Given the description of an element on the screen output the (x, y) to click on. 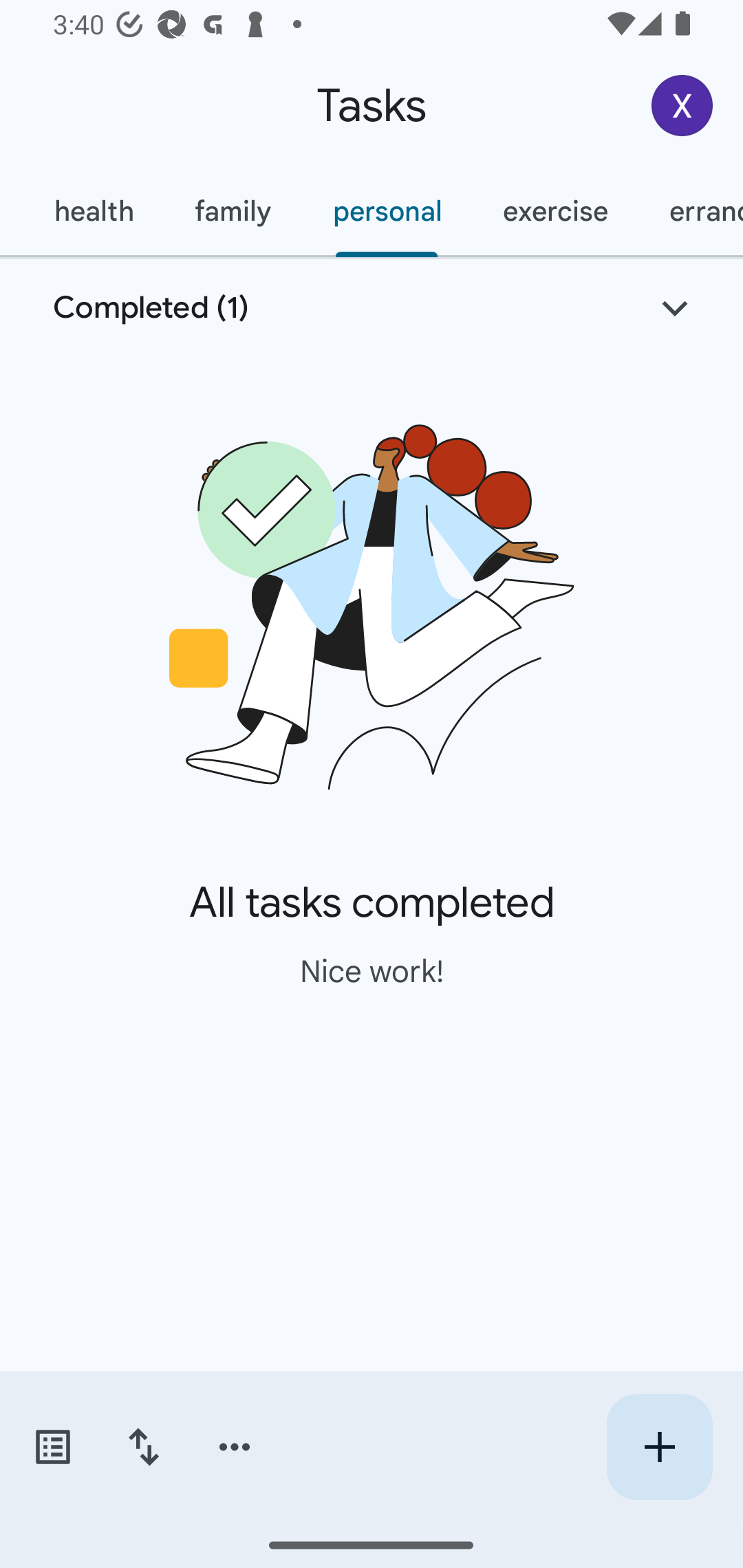
health (93, 211)
family (232, 211)
exercise (554, 211)
errands (690, 211)
Completed (1) (371, 307)
Switch task lists (52, 1447)
Create new task (659, 1446)
Change sort order (143, 1446)
More options (234, 1446)
